Given the description of an element on the screen output the (x, y) to click on. 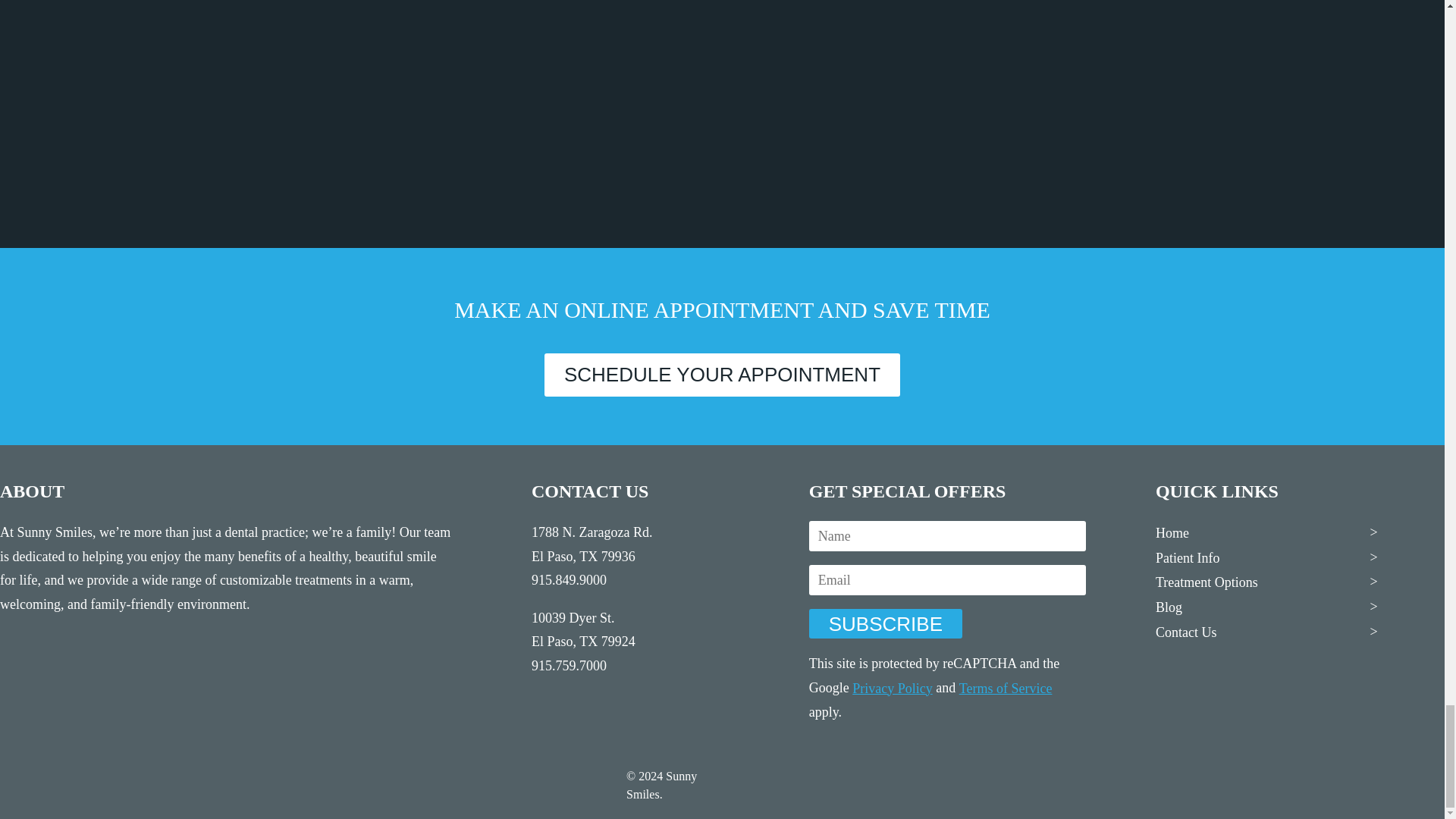
Subscribe (885, 623)
